Given the description of an element on the screen output the (x, y) to click on. 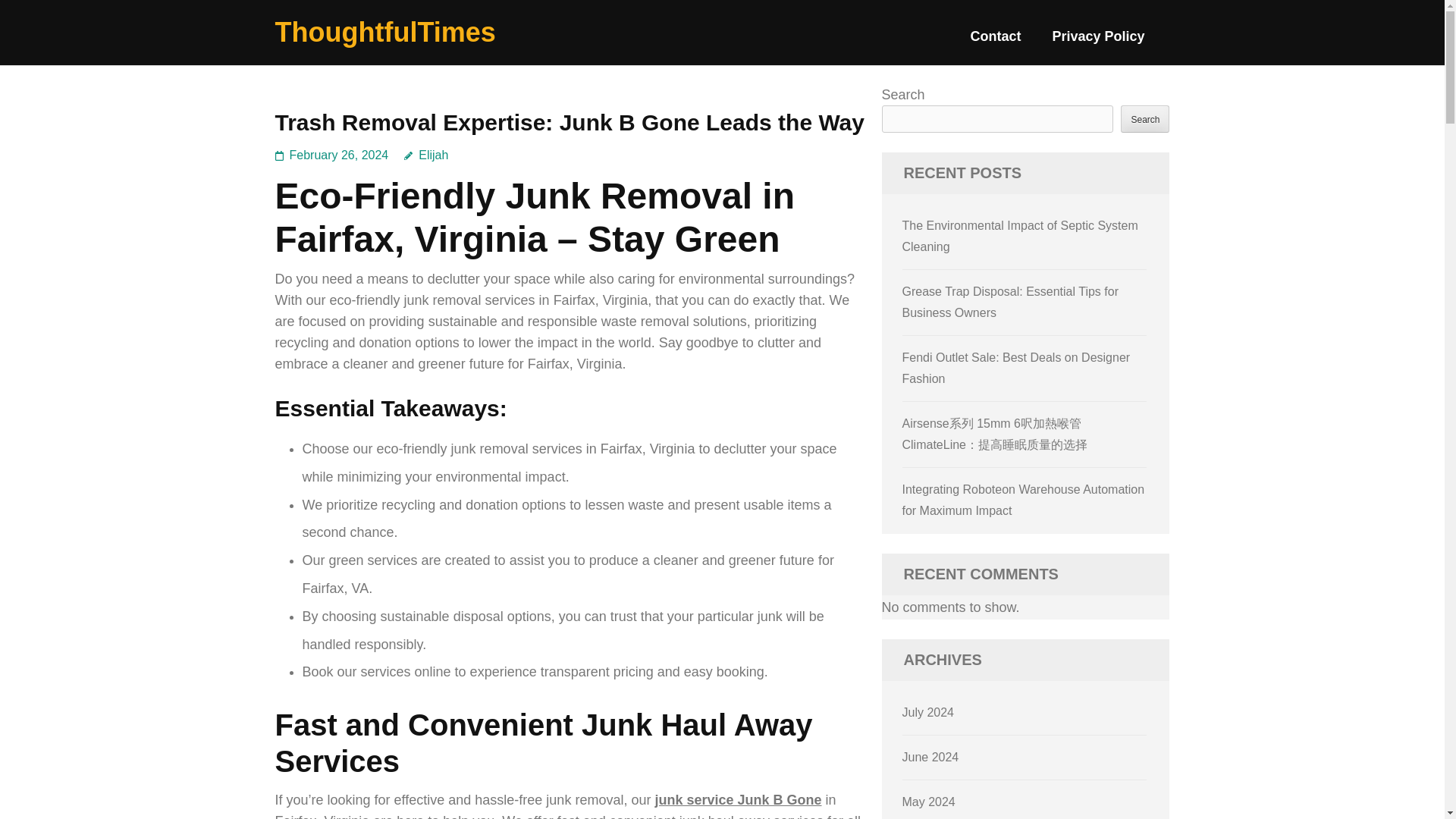
Contact (994, 42)
The Environmental Impact of Septic System Cleaning (1020, 236)
May 2024 (928, 801)
Grease Trap Disposal: Essential Tips for Business Owners (1010, 302)
junk service Junk B Gone (737, 799)
Elijah (426, 154)
February 26, 2024 (338, 154)
Fendi Outlet Sale: Best Deals on Designer Fashion (1016, 367)
ThoughtfulTimes (385, 31)
July 2024 (928, 712)
Integrating Roboteon Warehouse Automation for Maximum Impact (1023, 499)
Search (1145, 118)
June 2024 (930, 757)
Privacy Policy (1097, 42)
